Given the description of an element on the screen output the (x, y) to click on. 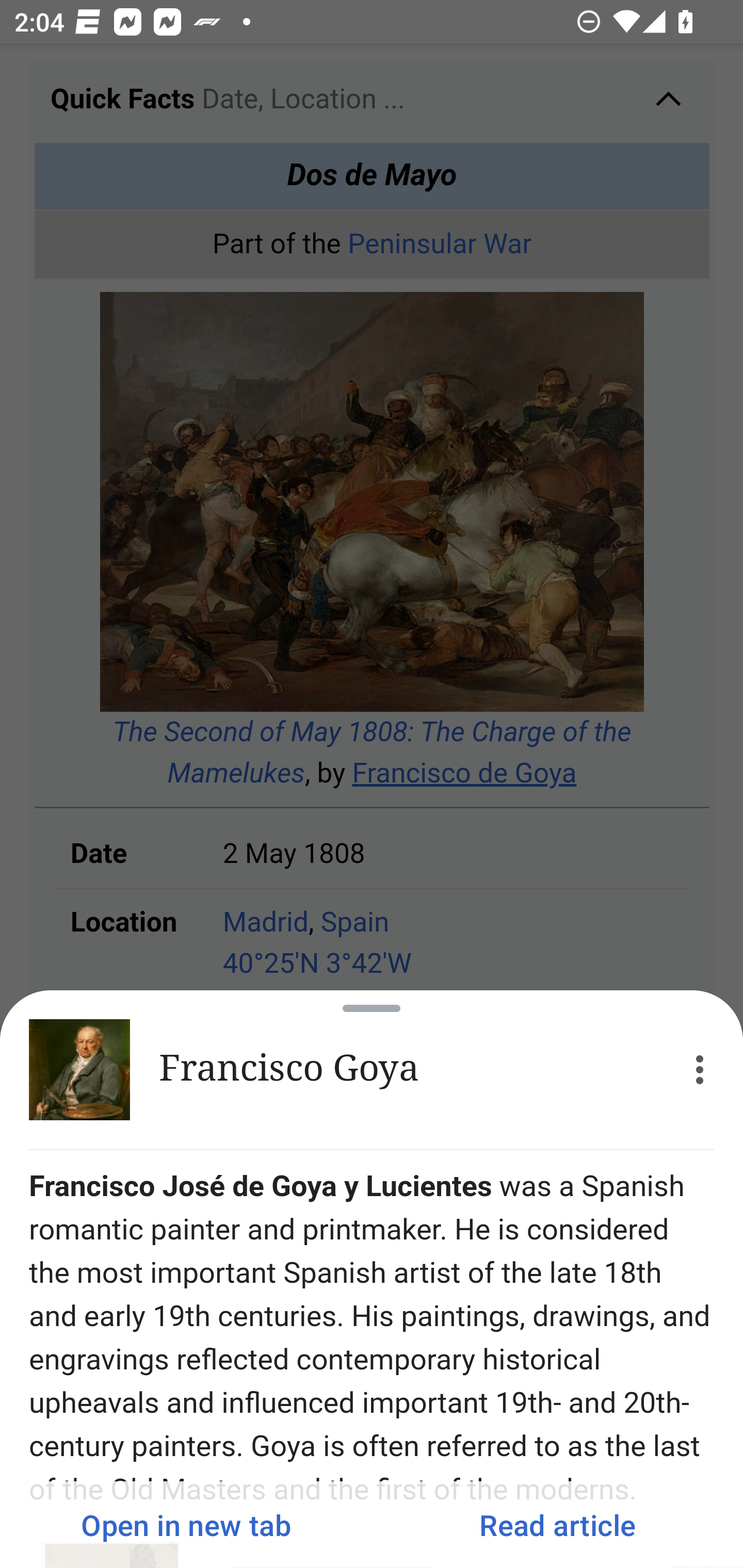
Francisco Goya More options (371, 1069)
More options (699, 1070)
Open in new tab (185, 1524)
Read article (557, 1524)
